Given the description of an element on the screen output the (x, y) to click on. 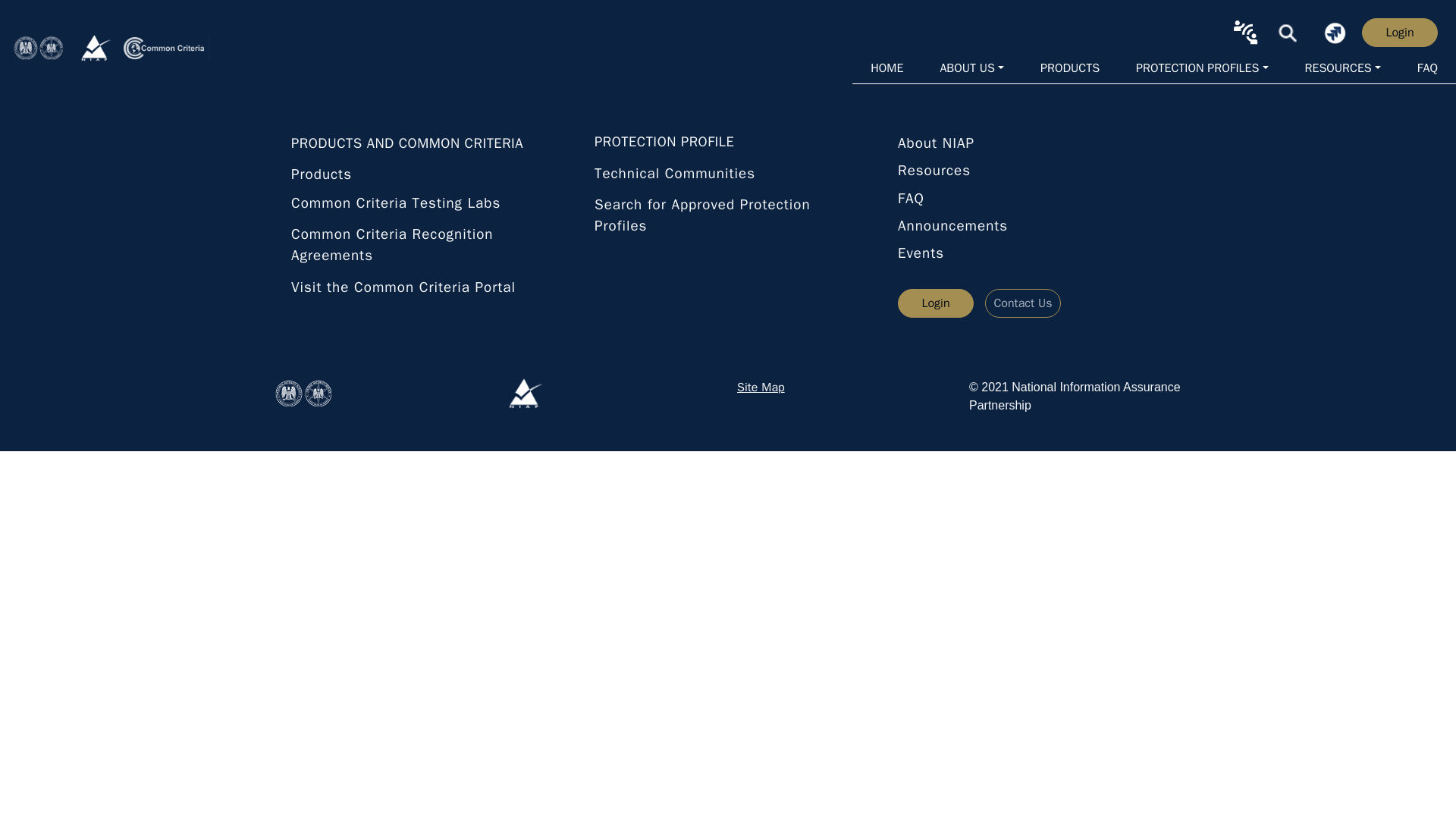
ABOUT US (971, 68)
FAQ (1031, 201)
RESOURCES (1342, 68)
Products (424, 179)
Visit the Common Criteria Portal (424, 287)
Site Map (760, 387)
PROTECTION PROFILES (1201, 68)
About NIAP (1031, 145)
Events (1031, 256)
PRODUCTS (1069, 68)
HOME (886, 68)
FAQ (1427, 68)
Announcements (1031, 228)
Login (941, 303)
Resources (1031, 173)
